Given the description of an element on the screen output the (x, y) to click on. 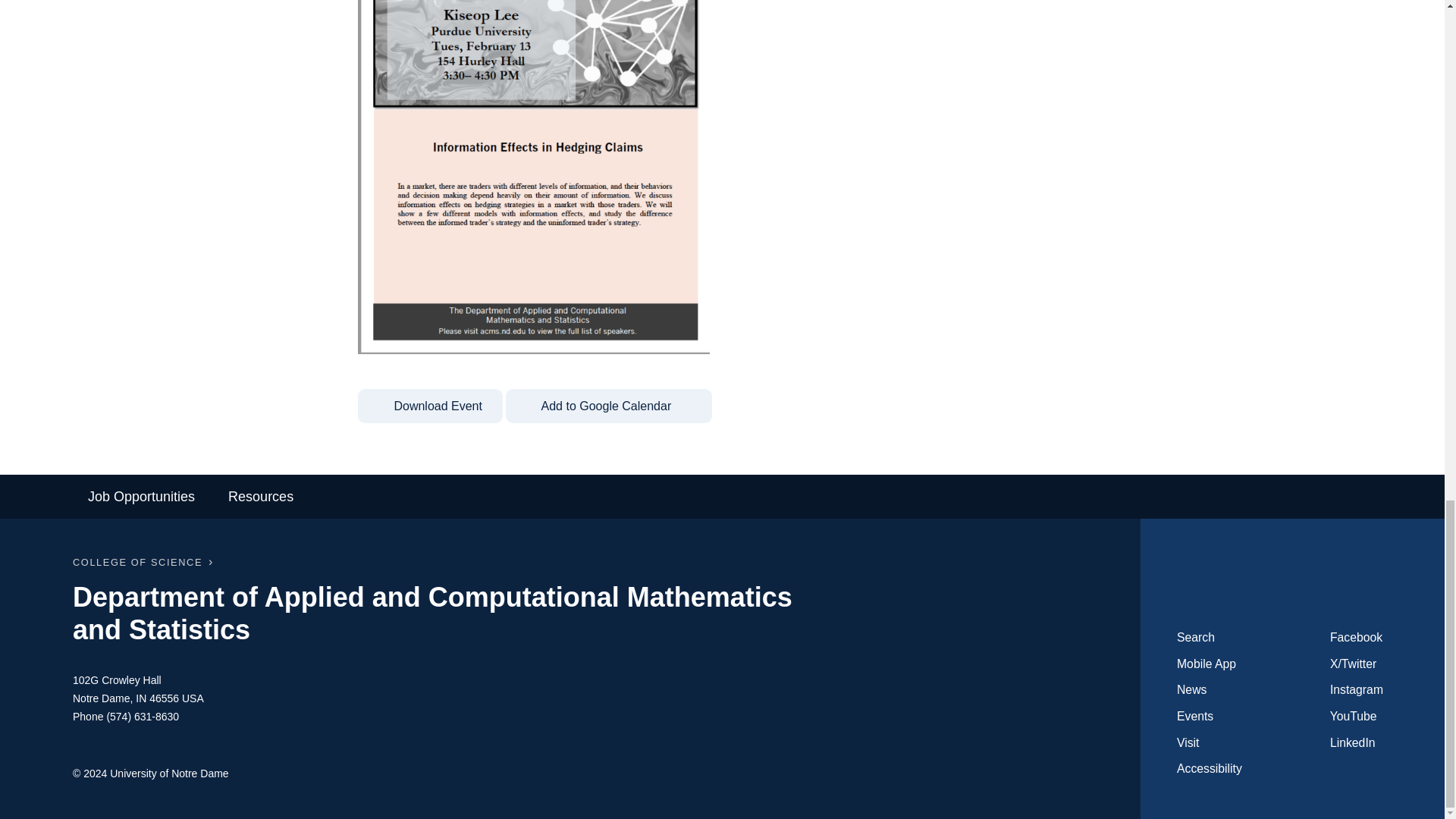
COLLEGE OF SCIENCE (137, 562)
Add to Google Calendar (608, 406)
Download Event (430, 406)
Resources (260, 496)
Job Opportunities (140, 496)
